Given the description of an element on the screen output the (x, y) to click on. 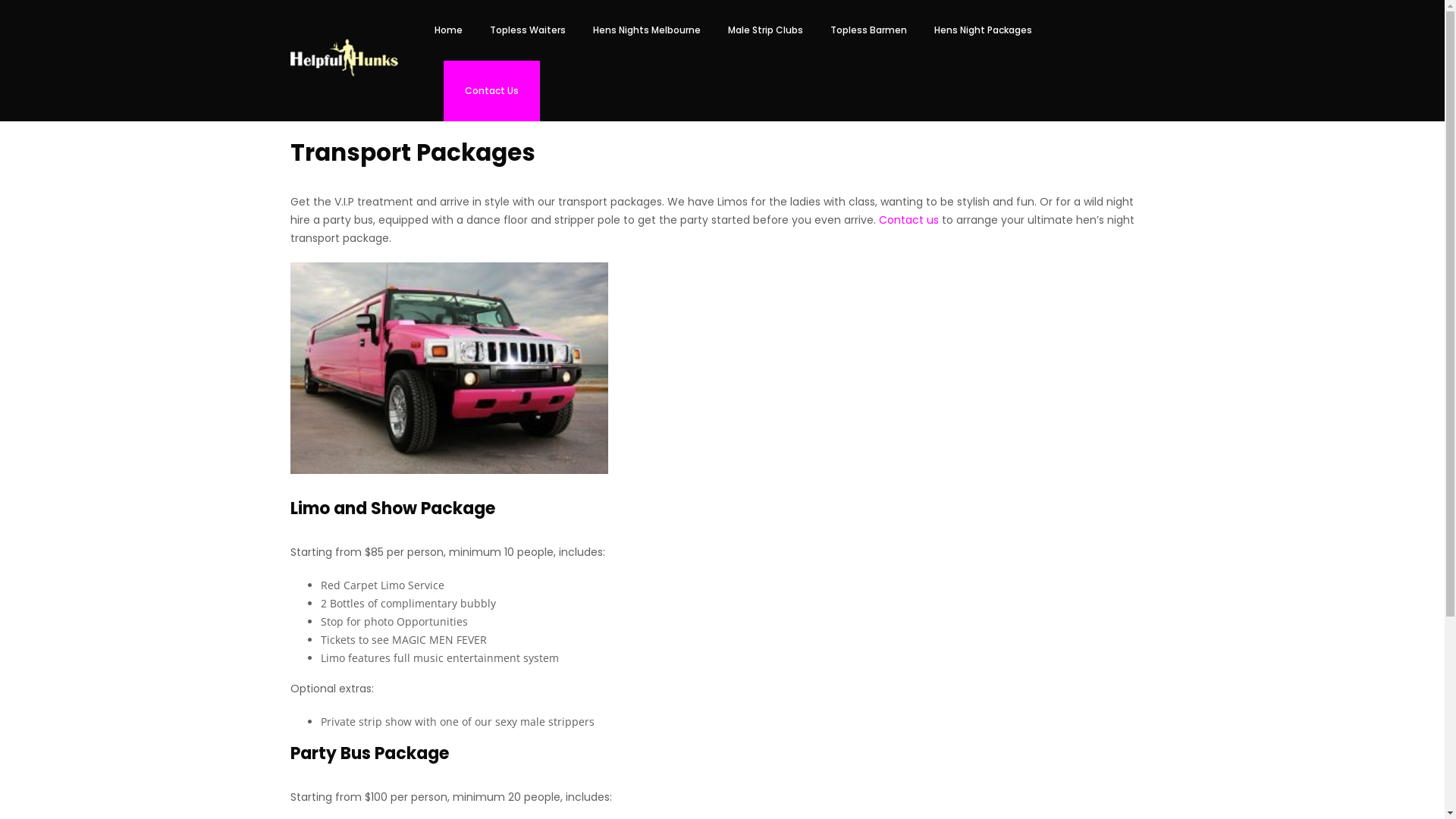
Hens Nights Melbourne Element type: text (646, 30)
Male Strippers Melbourne - Melbourne Male Strippers Element type: hover (343, 57)
Hens Night Packages Element type: text (982, 30)
Contact us Element type: text (908, 219)
Contact Us Element type: text (491, 90)
Male Strip Clubs Element type: text (765, 30)
Home Element type: text (448, 30)
Topless Waiters Element type: text (527, 30)
Topless Barmen Element type: text (868, 30)
